Given the description of an element on the screen output the (x, y) to click on. 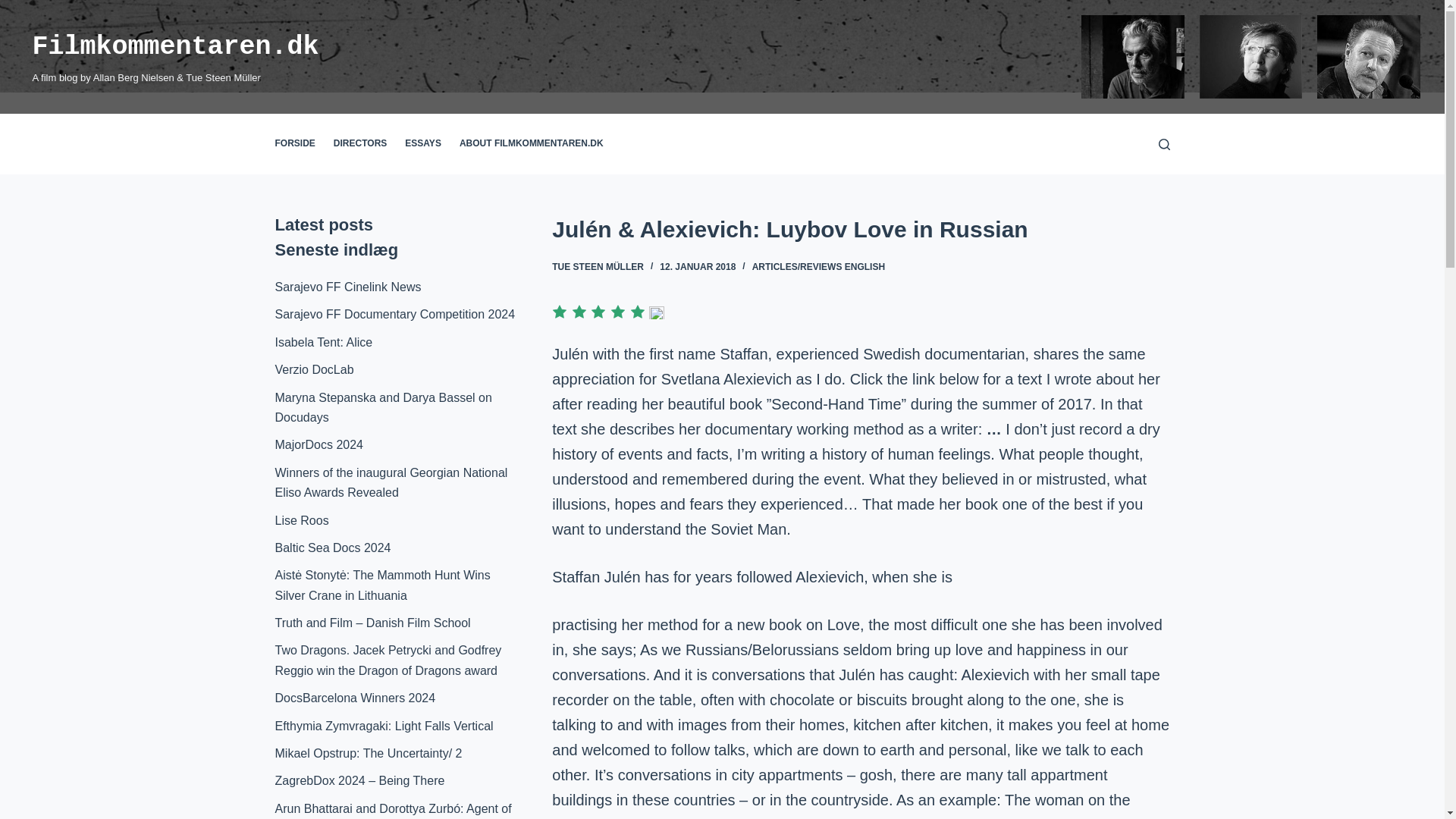
Filmkommentaren.dk (175, 46)
DIRECTORS (360, 143)
Lise Roos (302, 520)
Sarajevo FF Documentary Competition 2024 (395, 314)
Verzio DocLab (314, 369)
Skip to content (15, 7)
MajorDocs 2024 (318, 444)
Maryna Stepanska and Darya Bassel on Docudays (383, 407)
ESSAYS (422, 143)
